Given the description of an element on the screen output the (x, y) to click on. 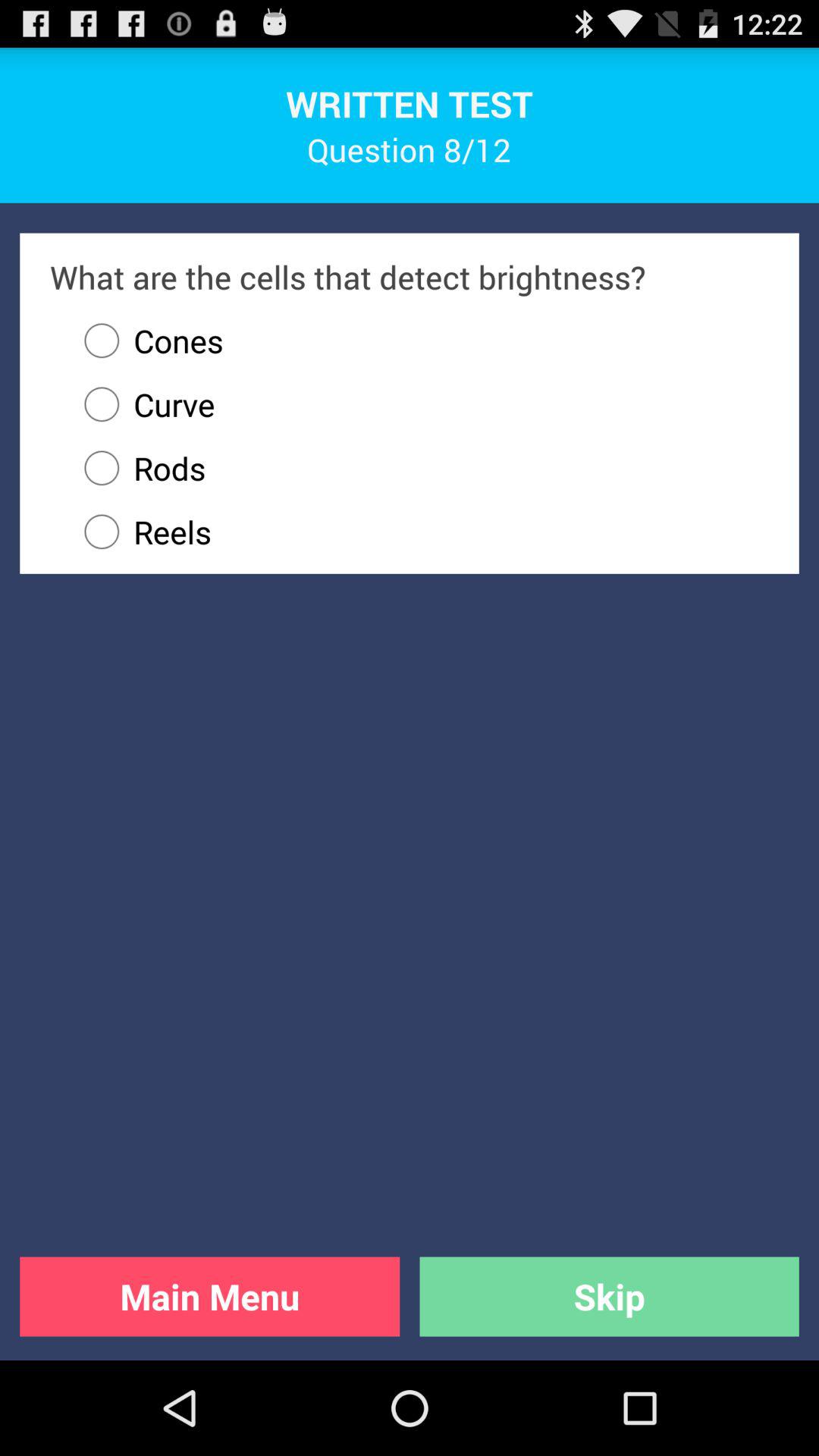
launch the cones icon (146, 340)
